Given the description of an element on the screen output the (x, y) to click on. 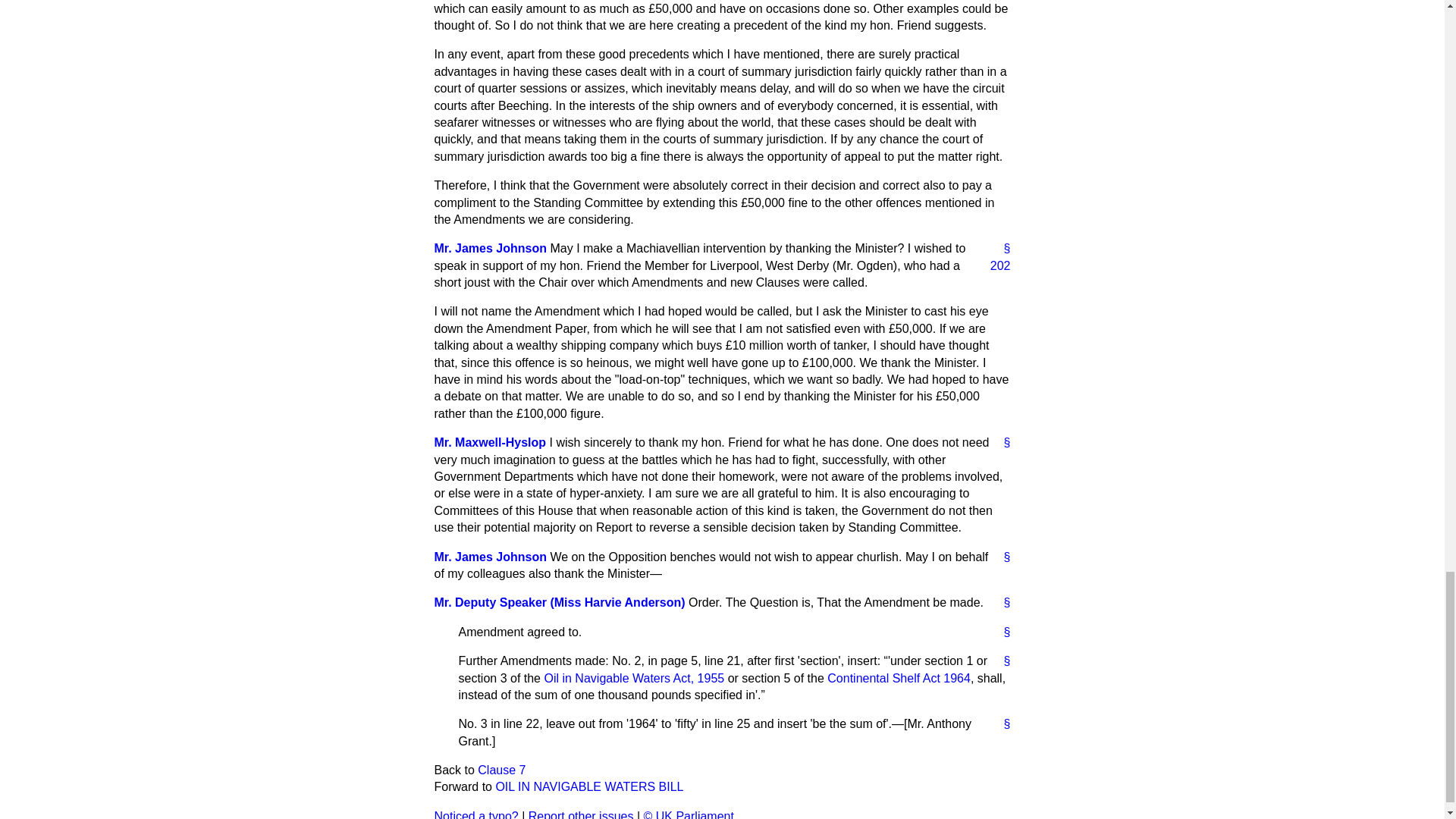
Mr James Johnson (490, 247)
Link to this speech by Mr James Johnson (1000, 248)
Mr. James Johnson (490, 556)
Mr. Maxwell-Hyslop (489, 441)
Mr. James Johnson (490, 247)
202 (994, 265)
Mr Robin Maxwell-Hyslop (489, 441)
Link to this speech by Mr Robin Maxwell-Hyslop (1000, 442)
